Given the description of an element on the screen output the (x, y) to click on. 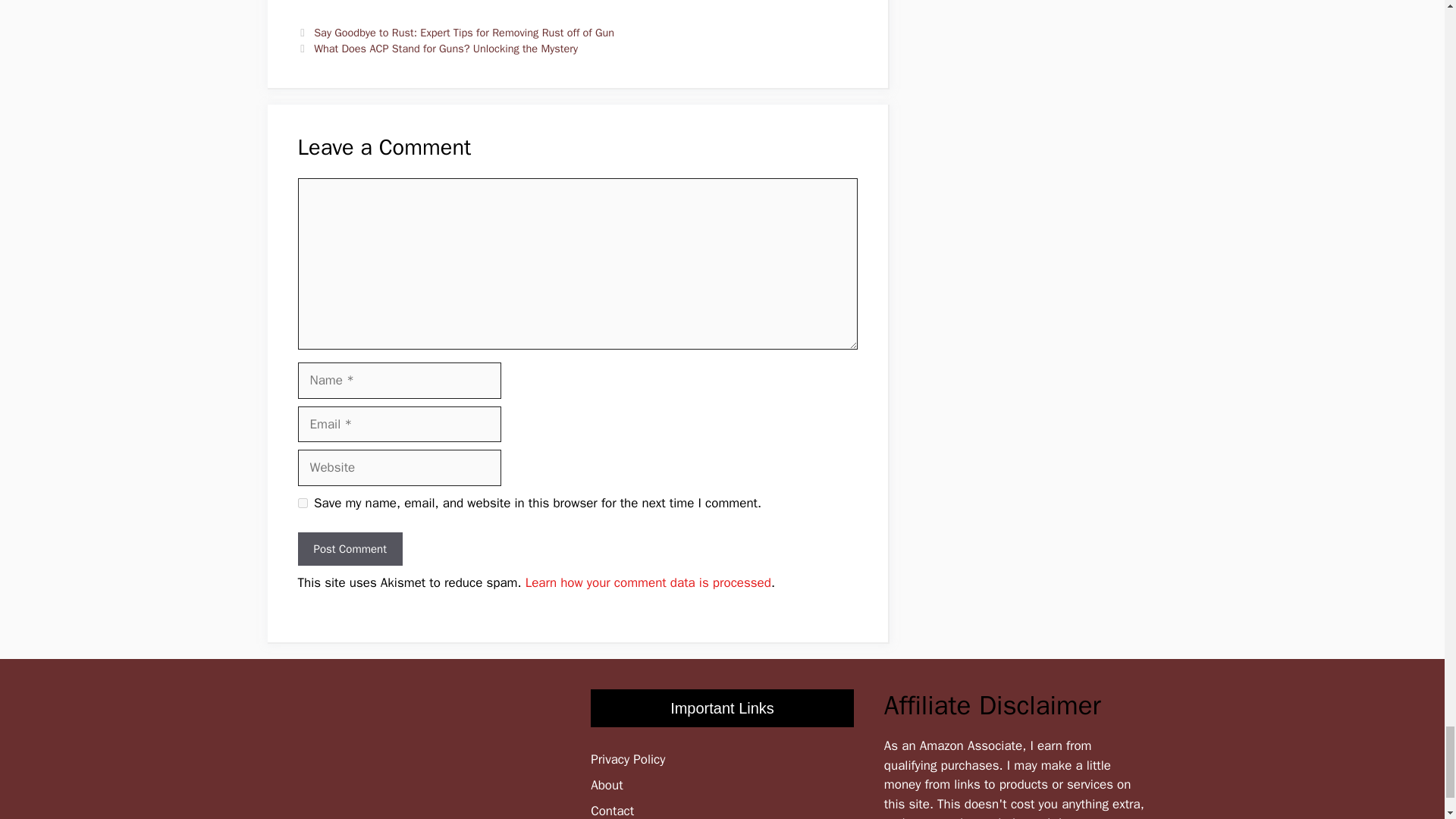
About (607, 785)
Post Comment (349, 549)
yes (302, 502)
Post Comment (349, 549)
Privacy Policy (628, 759)
Contact (612, 811)
What Does ACP Stand for Guns? Unlocking the Mystery (446, 48)
Learn how your comment data is processed (648, 582)
